Given the description of an element on the screen output the (x, y) to click on. 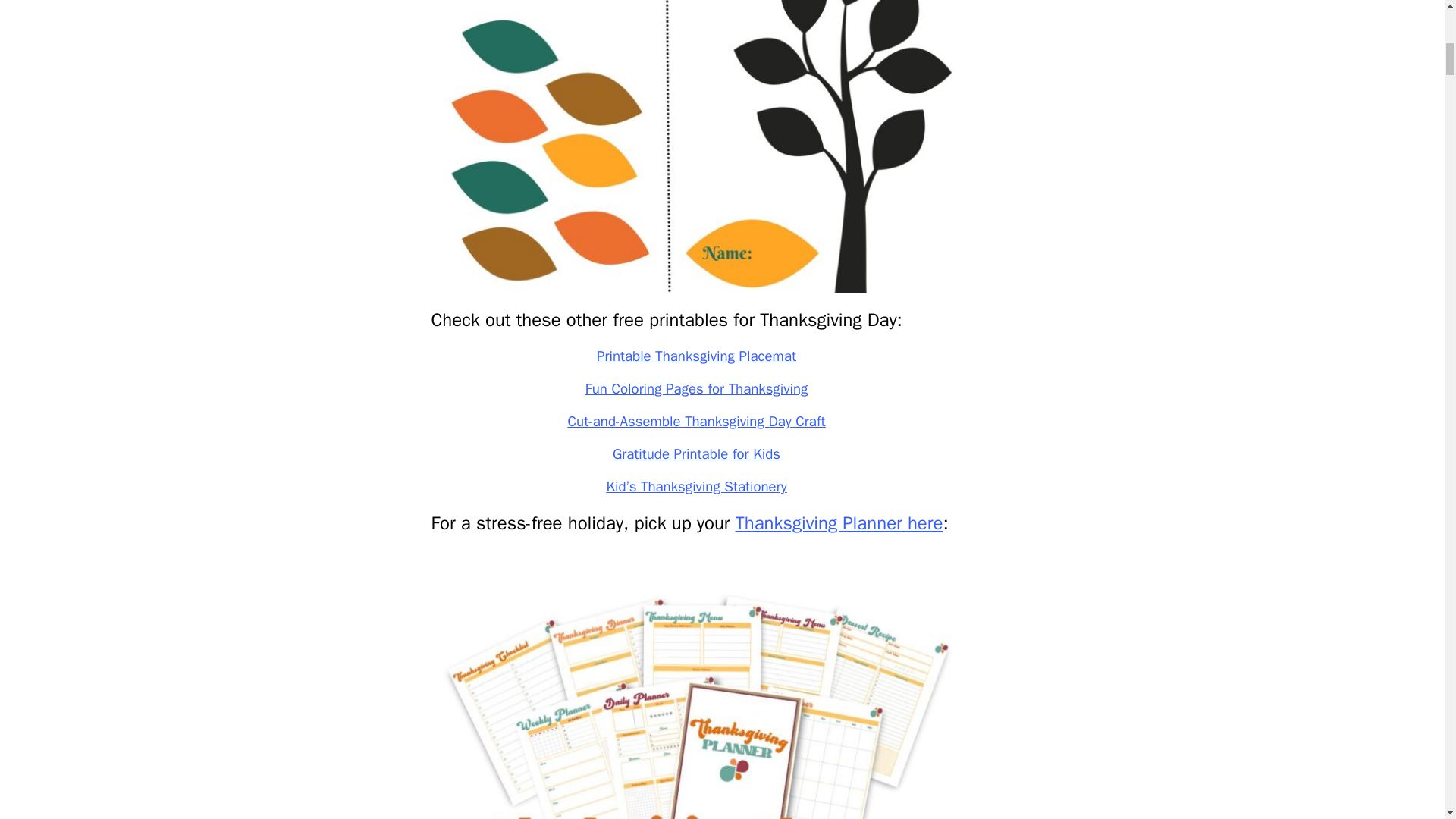
Cut-and-Assemble Thanksgiving Day Craft (696, 421)
Printable Thanksgiving Placemat (696, 356)
Fun Coloring Pages for Thanksgiving (696, 389)
Thanksgiving Planner here (839, 522)
Gratitude Printable for Kids (696, 454)
